Given the description of an element on the screen output the (x, y) to click on. 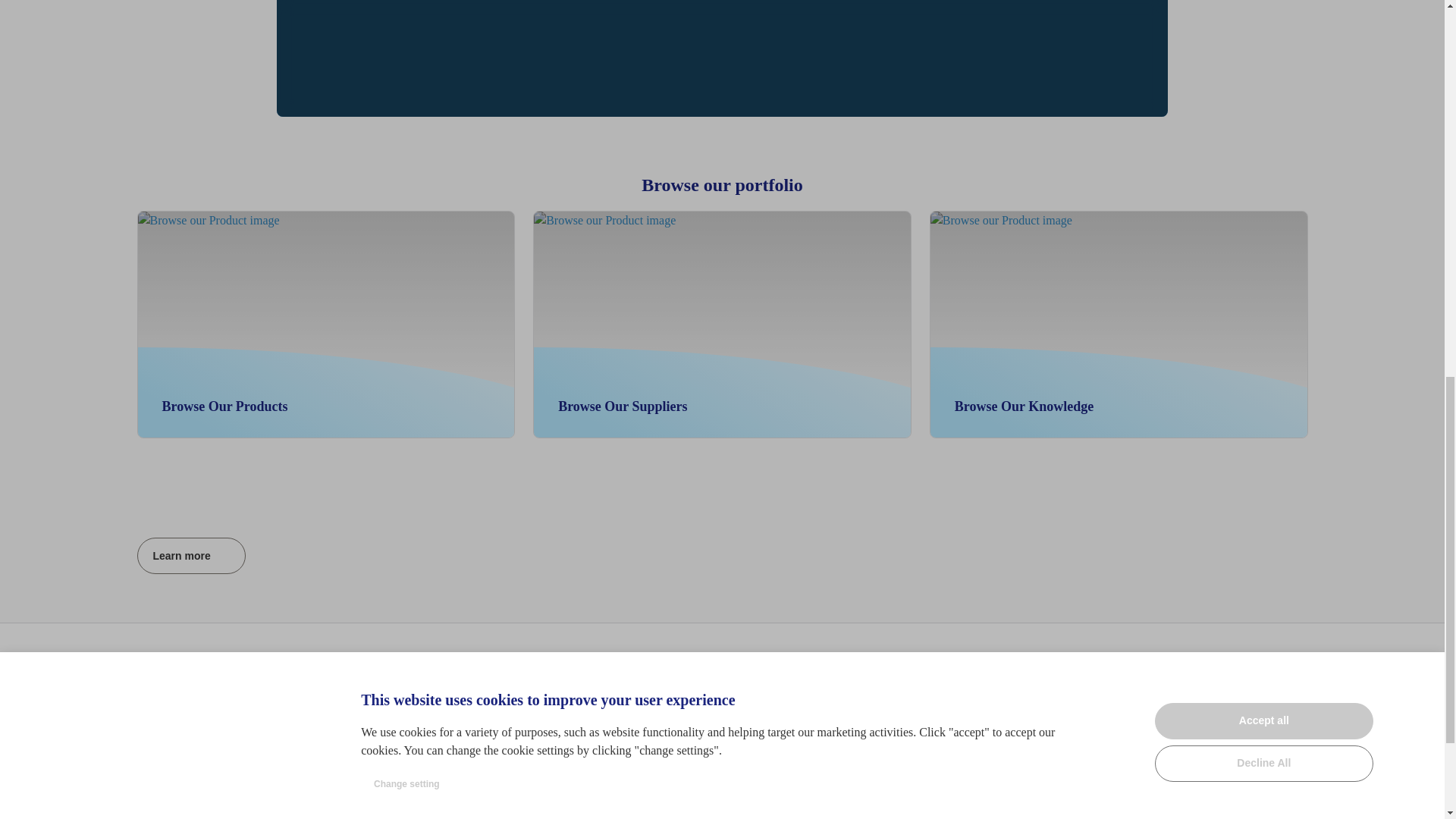
Our Knowledge (405, 719)
Learn more (191, 555)
Our Products (1118, 324)
Browse our Product (721, 324)
Austria (398, 697)
Browse our Product (170, 381)
Browse our Product (159, 677)
Our Suppliers (1276, 235)
Open Dropdown (879, 235)
Browse our Knowledge (325, 324)
Advanced Materials (400, 741)
Browse our Product (226, 677)
